Given the description of an element on the screen output the (x, y) to click on. 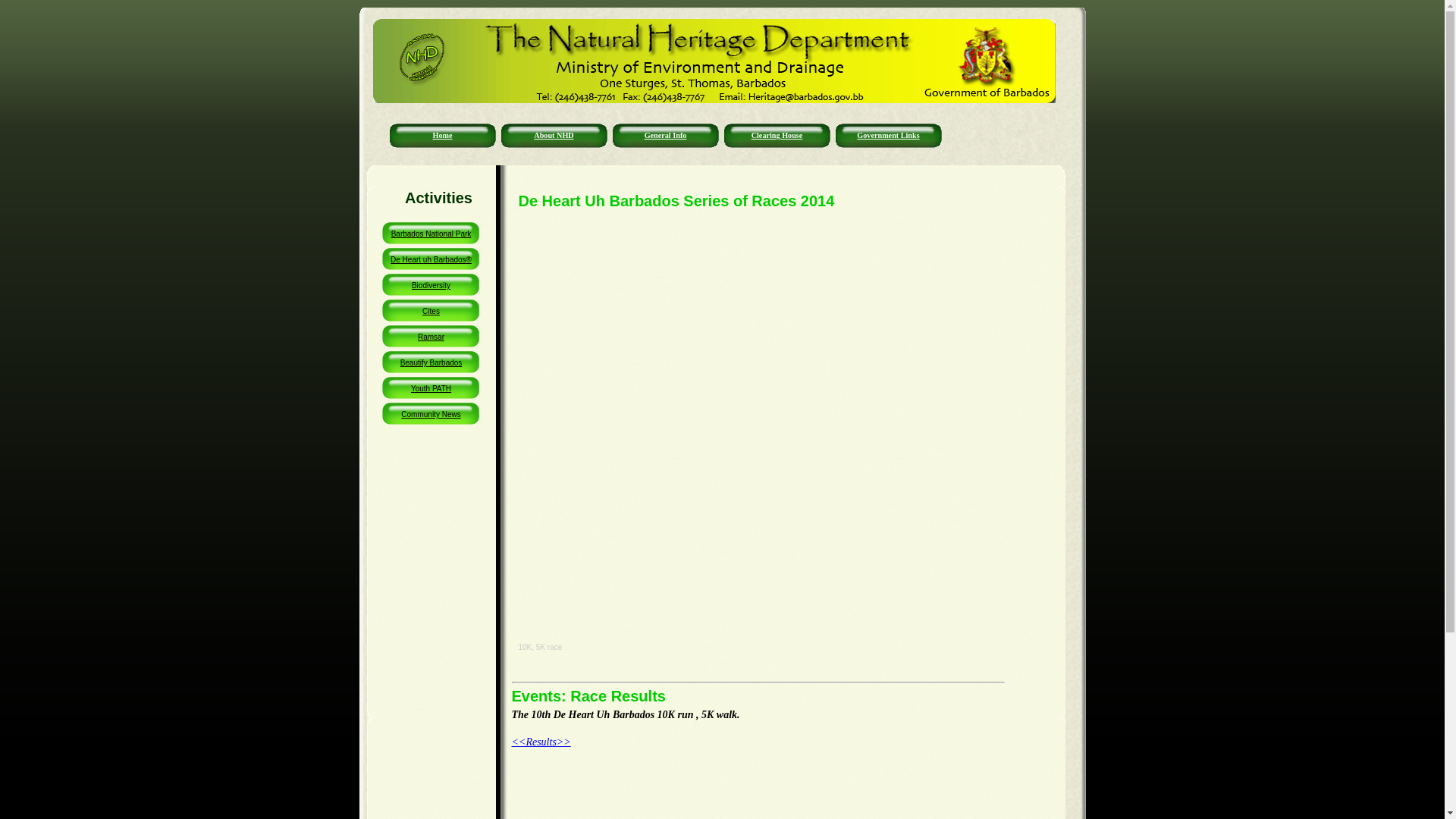
Community News Element type: text (431, 415)
Clearing House Element type: text (776, 140)
<<Results>> Element type: text (540, 741)
Barbados National Park Element type: text (431, 234)
Home Element type: text (442, 140)
About NHD Element type: text (553, 140)
Cites Element type: text (431, 312)
Youth PATH Element type: text (431, 389)
Beautify Barbados Element type: text (431, 363)
Government Links Element type: text (888, 140)
Biodiversity Element type: text (431, 286)
General Info Element type: text (665, 140)
Ramsar Element type: text (431, 338)
